Given the description of an element on the screen output the (x, y) to click on. 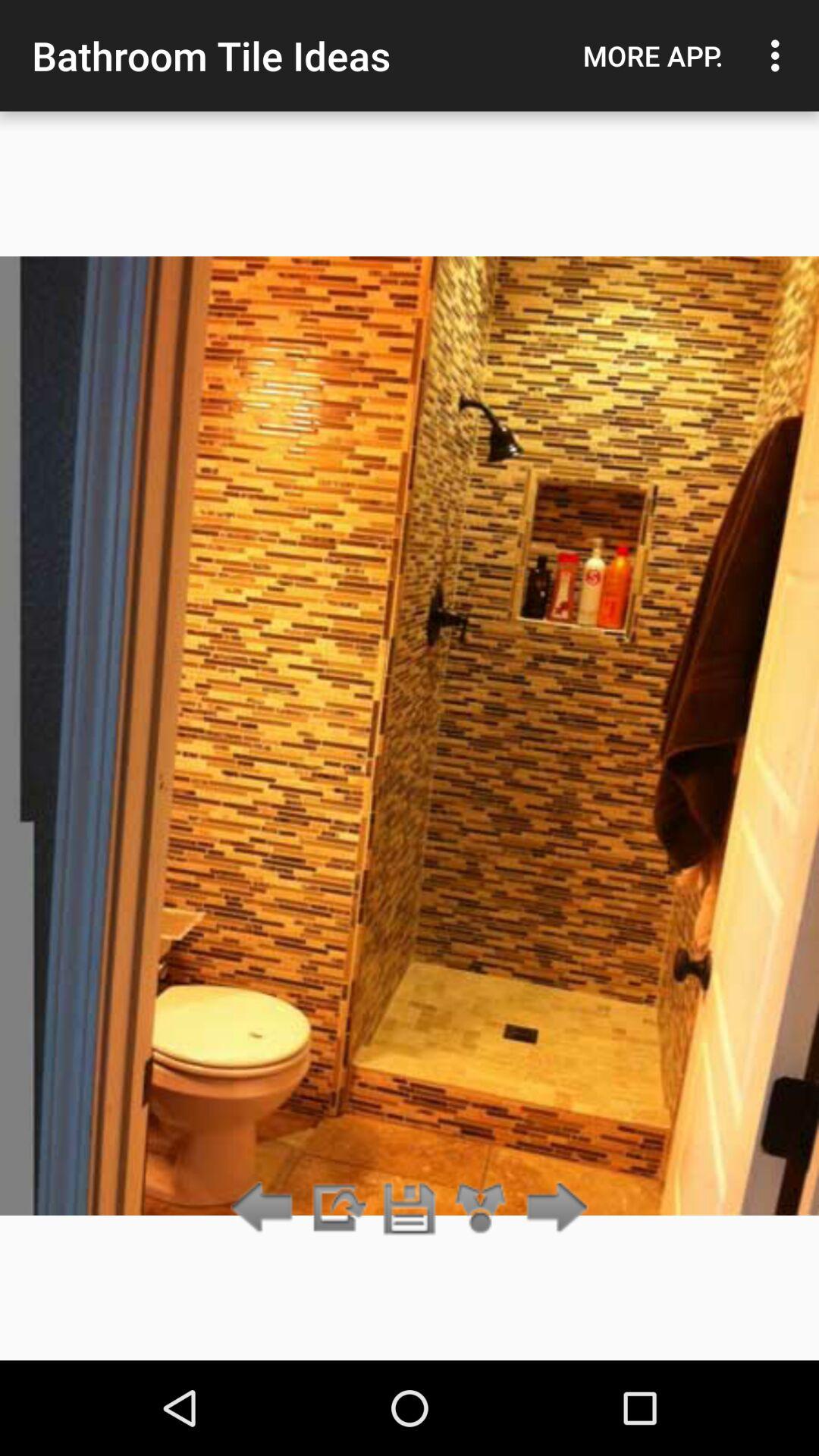
turn off more app. icon (653, 55)
